Given the description of an element on the screen output the (x, y) to click on. 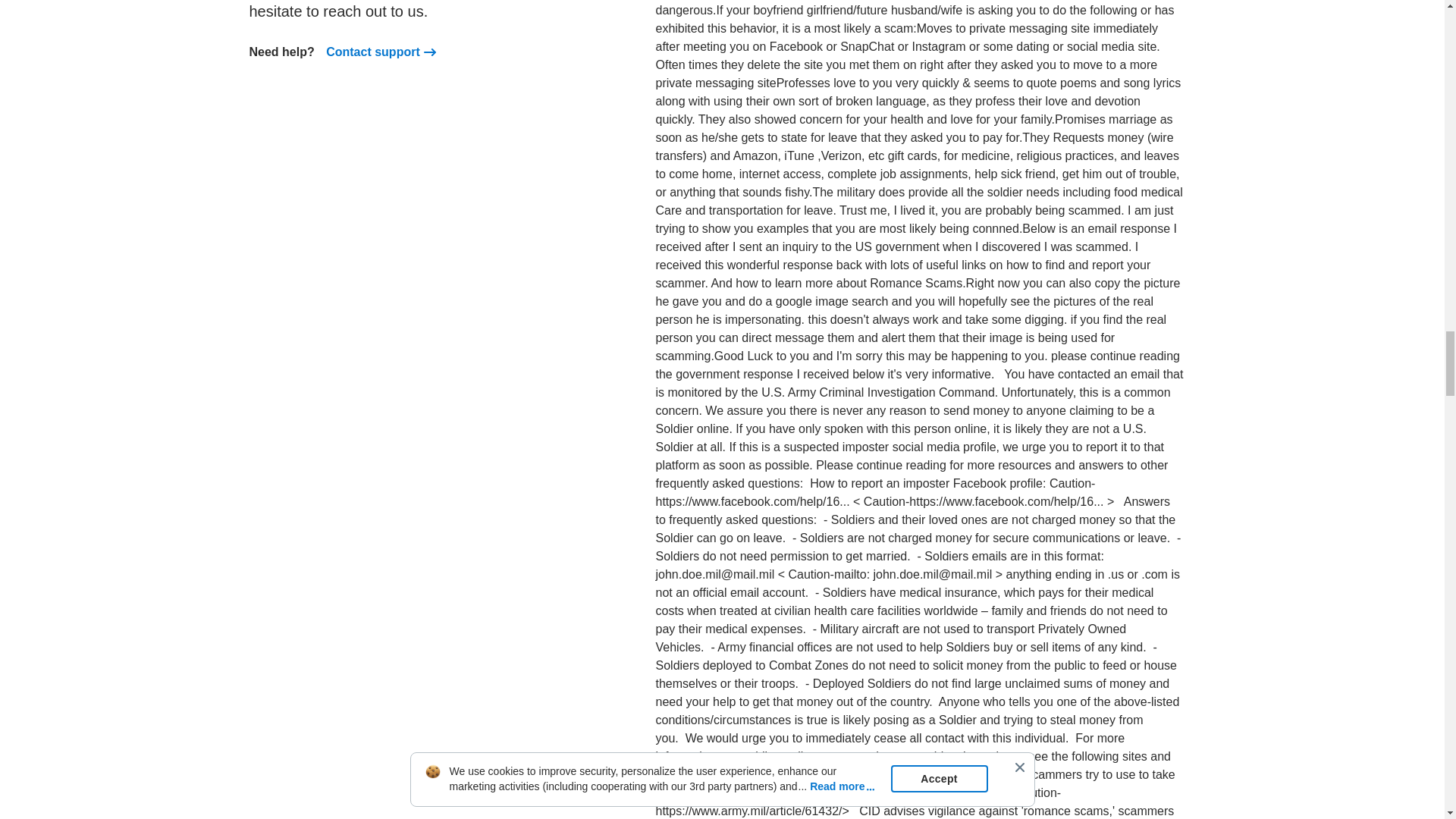
Contact support (373, 52)
